Given the description of an element on the screen output the (x, y) to click on. 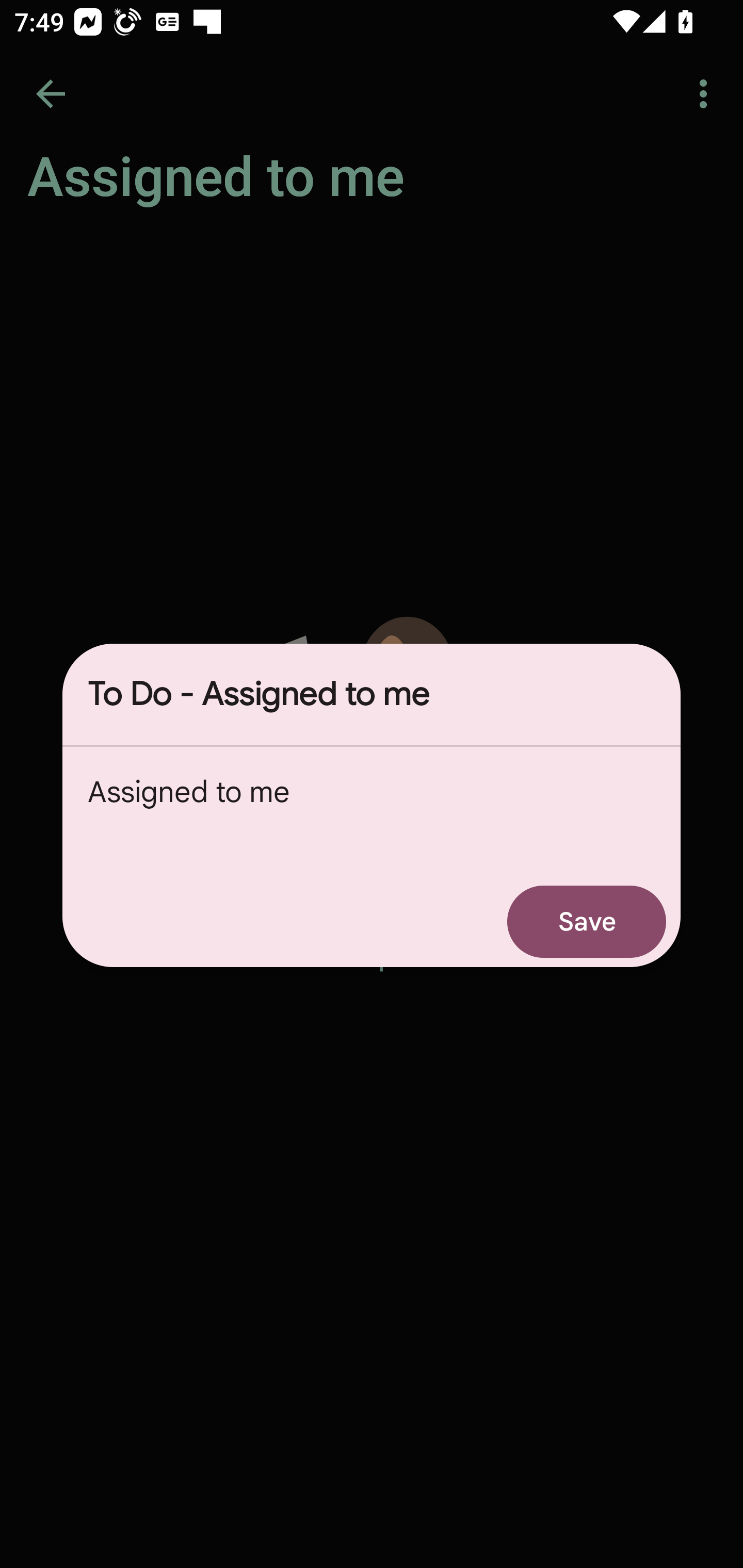
To Do - Assigned to me (371, 694)
Assigned to me
 (371, 811)
Save (586, 921)
